Given the description of an element on the screen output the (x, y) to click on. 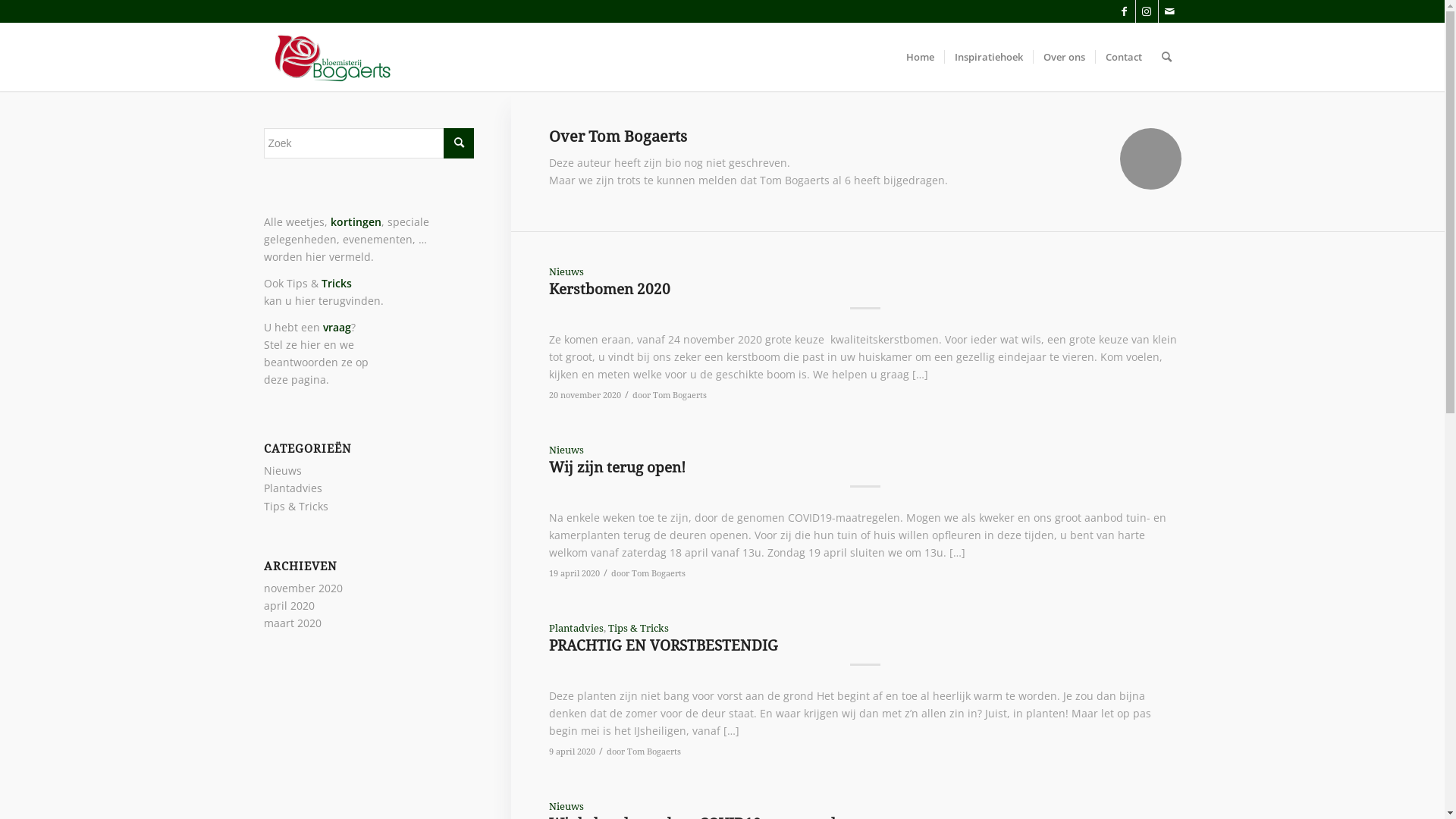
PRACHTIG EN VORSTBESTENDIG Element type: text (663, 645)
Tom Bogaerts Element type: text (658, 572)
Wij zijn terug open! Element type: text (617, 467)
Tom Bogaerts Element type: text (653, 751)
Tips & Tricks Element type: text (295, 505)
Plantadvies Element type: text (576, 627)
Kerstbomen 2020 Element type: text (609, 289)
Nieuws Element type: text (566, 806)
november 2020 Element type: text (302, 587)
Contact Element type: text (1123, 56)
maart 2020 Element type: text (292, 622)
Mail Element type: hover (1169, 11)
Instagram Element type: hover (1146, 11)
Inspiratiehoek Element type: text (987, 56)
Home Element type: text (920, 56)
Nieuws Element type: text (566, 449)
Facebook Element type: hover (1124, 11)
Tips & Tricks Element type: text (638, 627)
april 2020 Element type: text (288, 605)
Plantadvies Element type: text (292, 487)
Tom Bogaerts Element type: text (679, 394)
Nieuws Element type: text (282, 470)
Nieuws Element type: text (566, 271)
Over ons Element type: text (1063, 56)
